Given the description of an element on the screen output the (x, y) to click on. 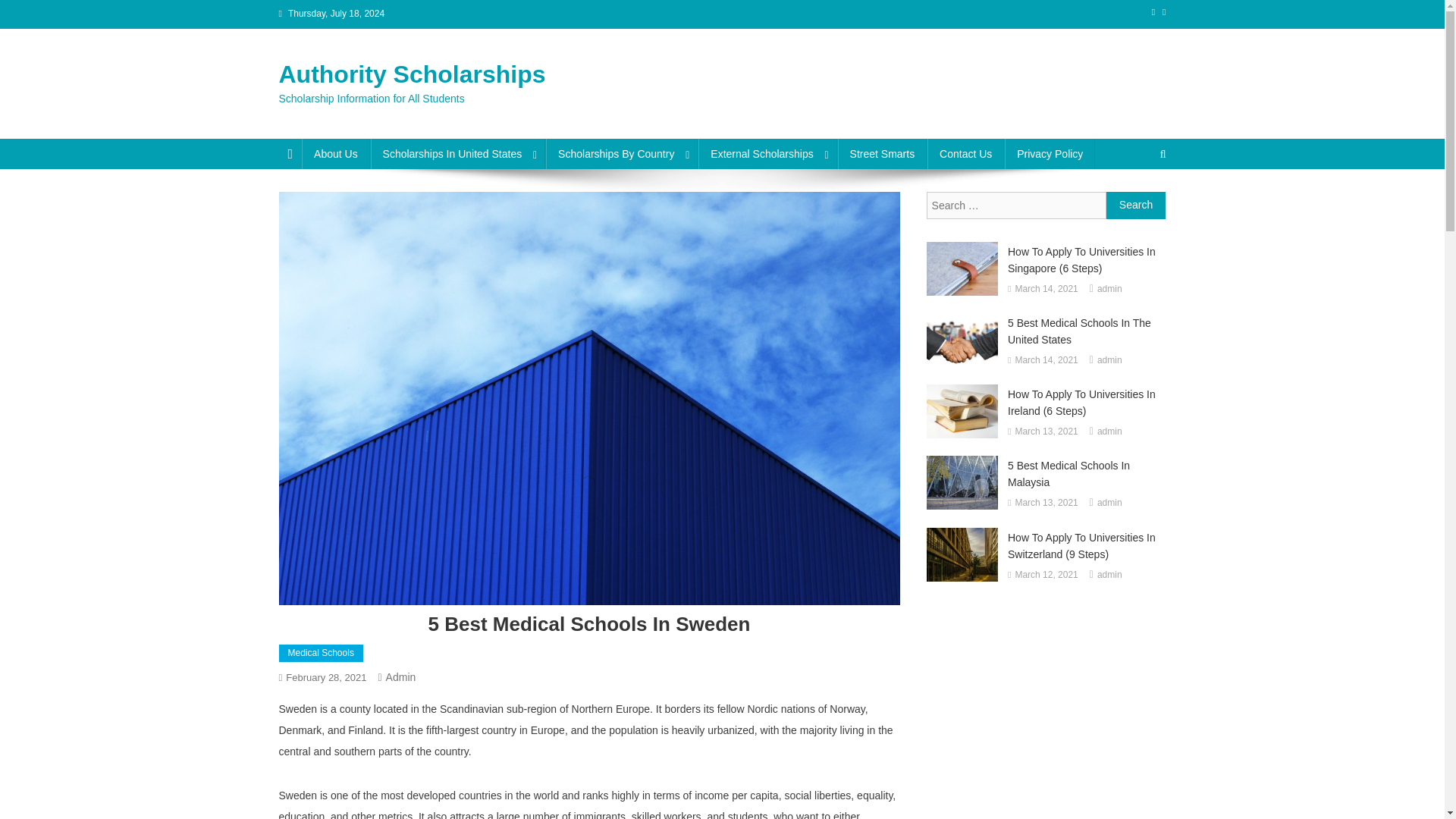
Search (1136, 205)
Scholarships In United States (458, 153)
About Us (335, 153)
Search (1136, 205)
Authority Scholarships (412, 73)
